Given the description of an element on the screen output the (x, y) to click on. 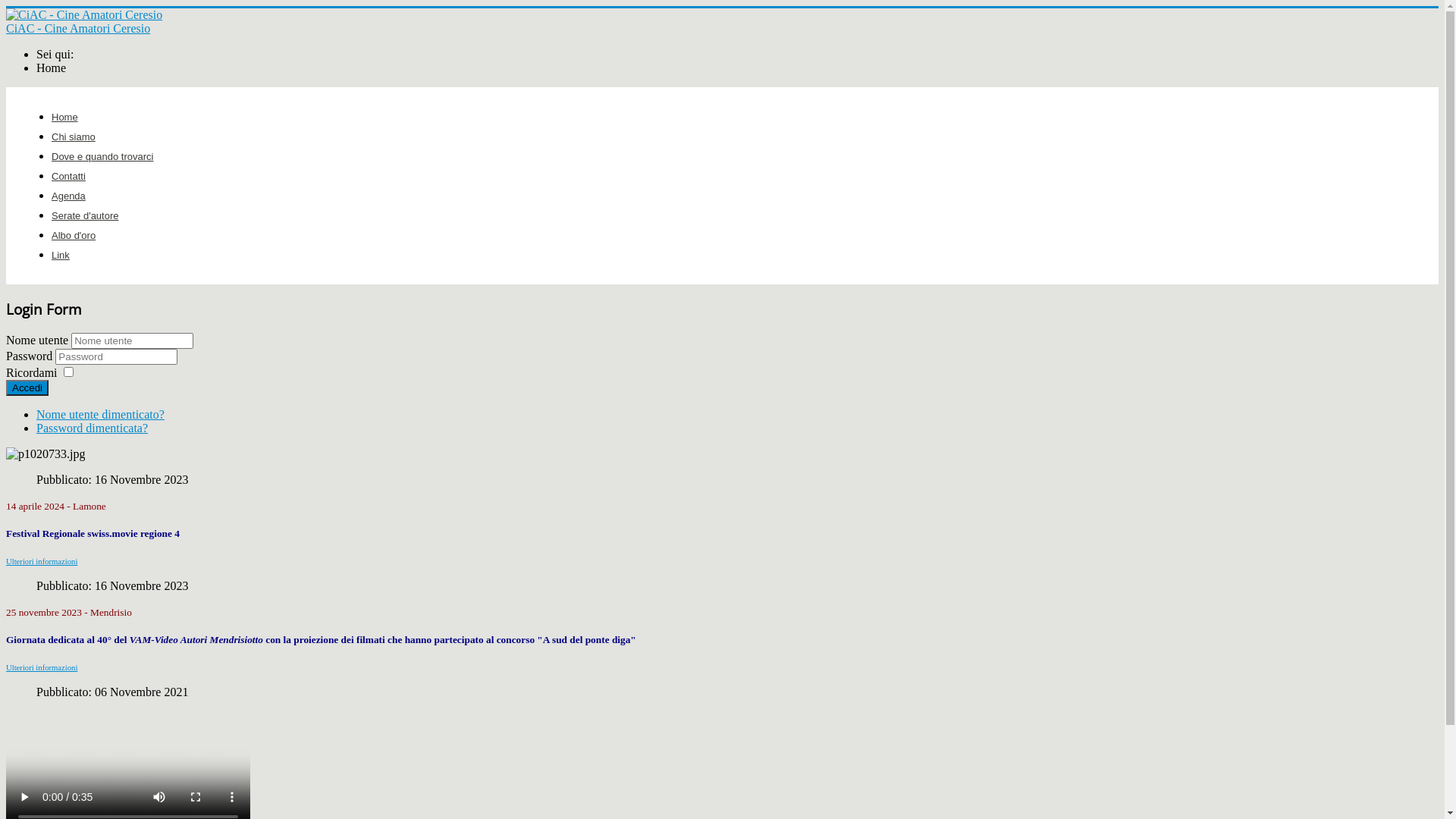
Ulteriori informazioni Element type: text (41, 667)
Home Element type: text (64, 116)
Serate d'autore Element type: text (85, 215)
Chi siamo Element type: text (73, 136)
Password dimenticata? Element type: text (91, 427)
Link Element type: text (60, 254)
Agenda Element type: text (68, 195)
Nome utente dimenticato? Element type: text (100, 413)
Contatti Element type: text (68, 176)
CiAC - Cine Amatori Ceresio Element type: text (722, 21)
Dove e quando trovarci Element type: text (102, 156)
Ulteriori informazioni Element type: text (41, 561)
Albo d'oro Element type: text (73, 235)
Accedi Element type: text (27, 387)
